Given the description of an element on the screen output the (x, y) to click on. 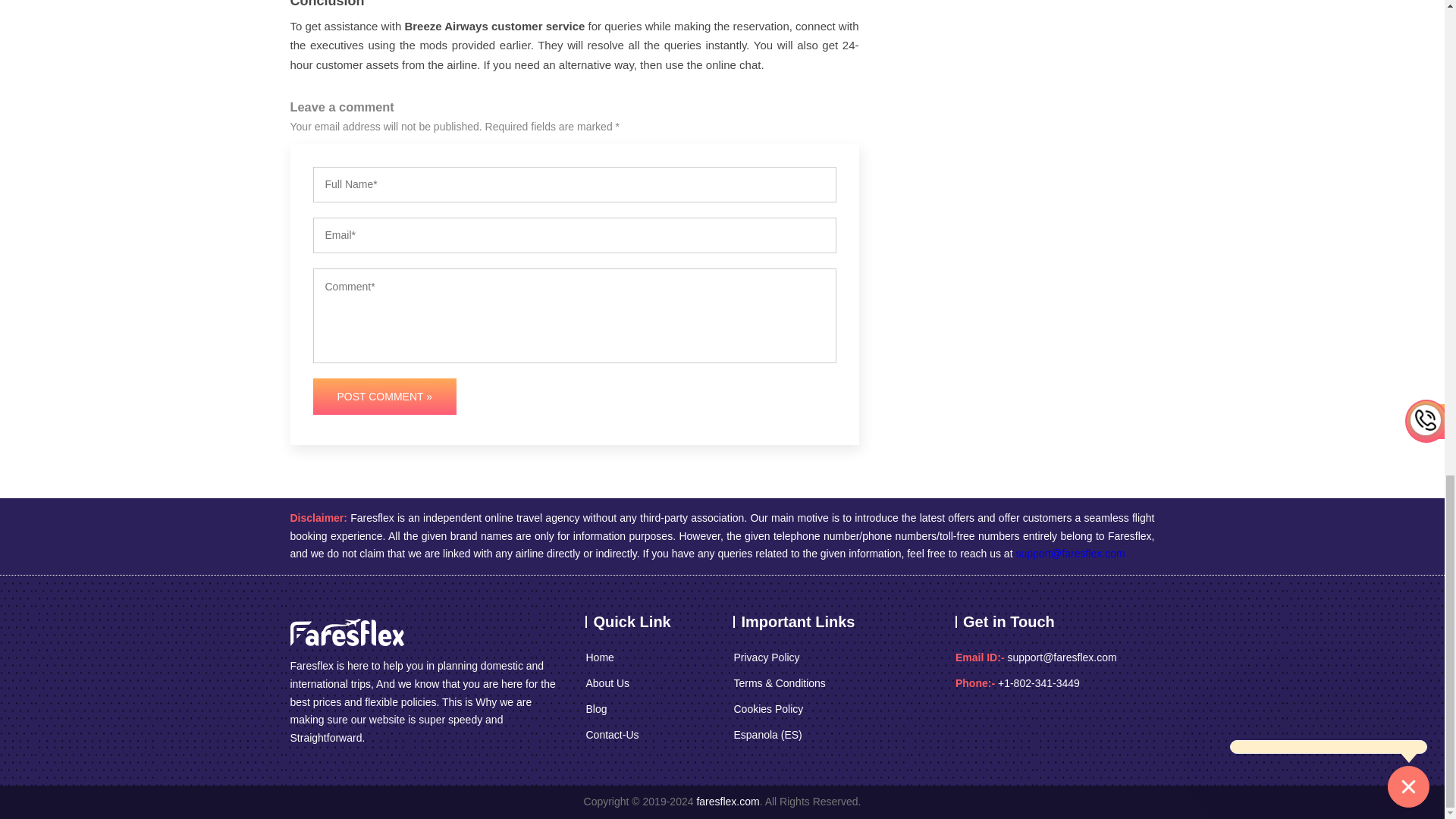
About Us (606, 683)
Instagram (1027, 726)
Twitter (997, 726)
Linkedin (1057, 726)
YouTube (1088, 726)
Privacy Policy (766, 658)
Cookies Policy (768, 710)
Blog (596, 710)
Home (598, 658)
Contact-Us (612, 735)
